Given the description of an element on the screen output the (x, y) to click on. 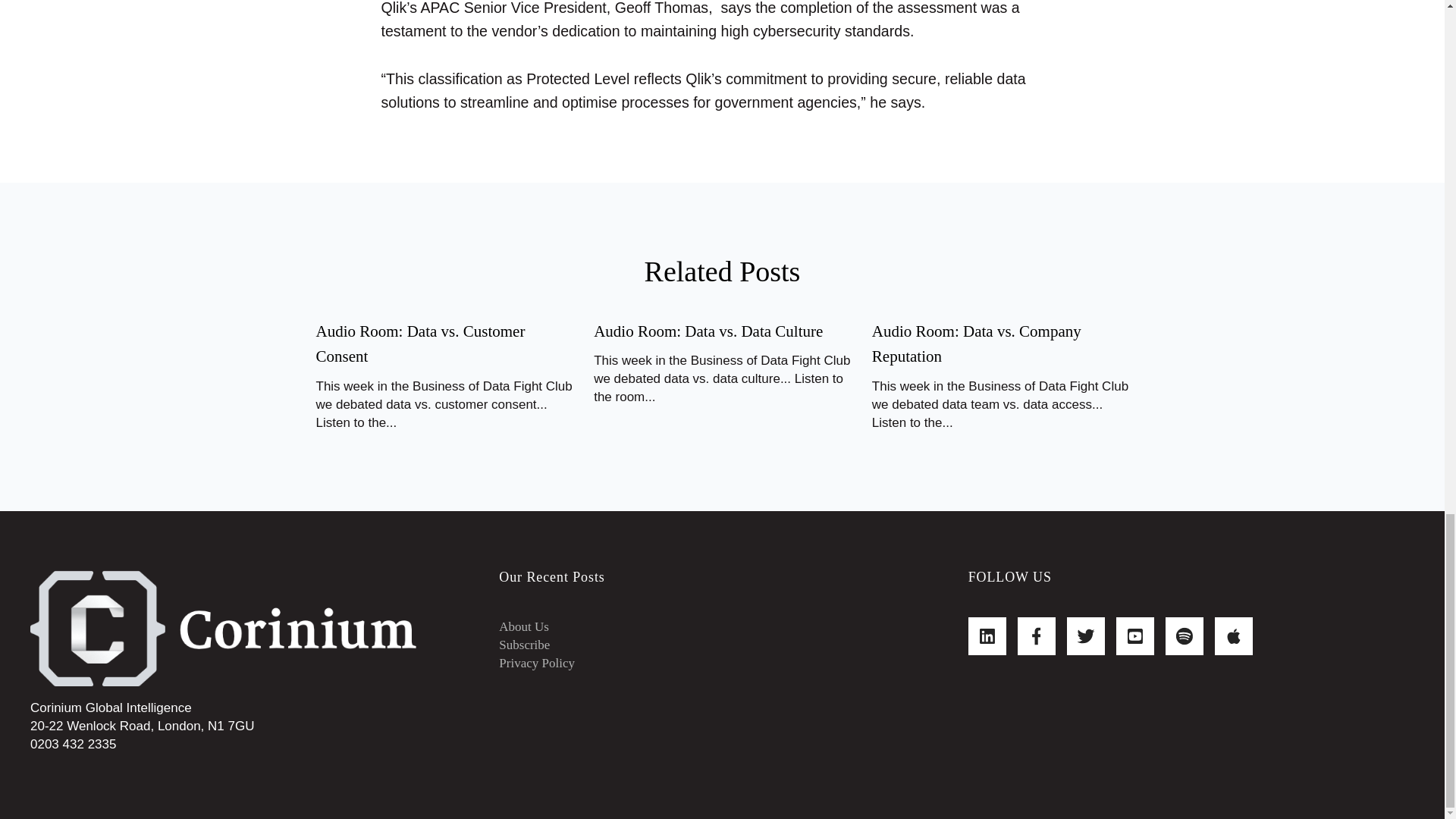
About Us (523, 626)
Audio Room: Data vs. Company Reputation (976, 344)
Audio Room: Data vs. Customer Consent (419, 344)
Audio Room: Data vs. Data Culture (708, 331)
Subscribe (524, 644)
